Given the description of an element on the screen output the (x, y) to click on. 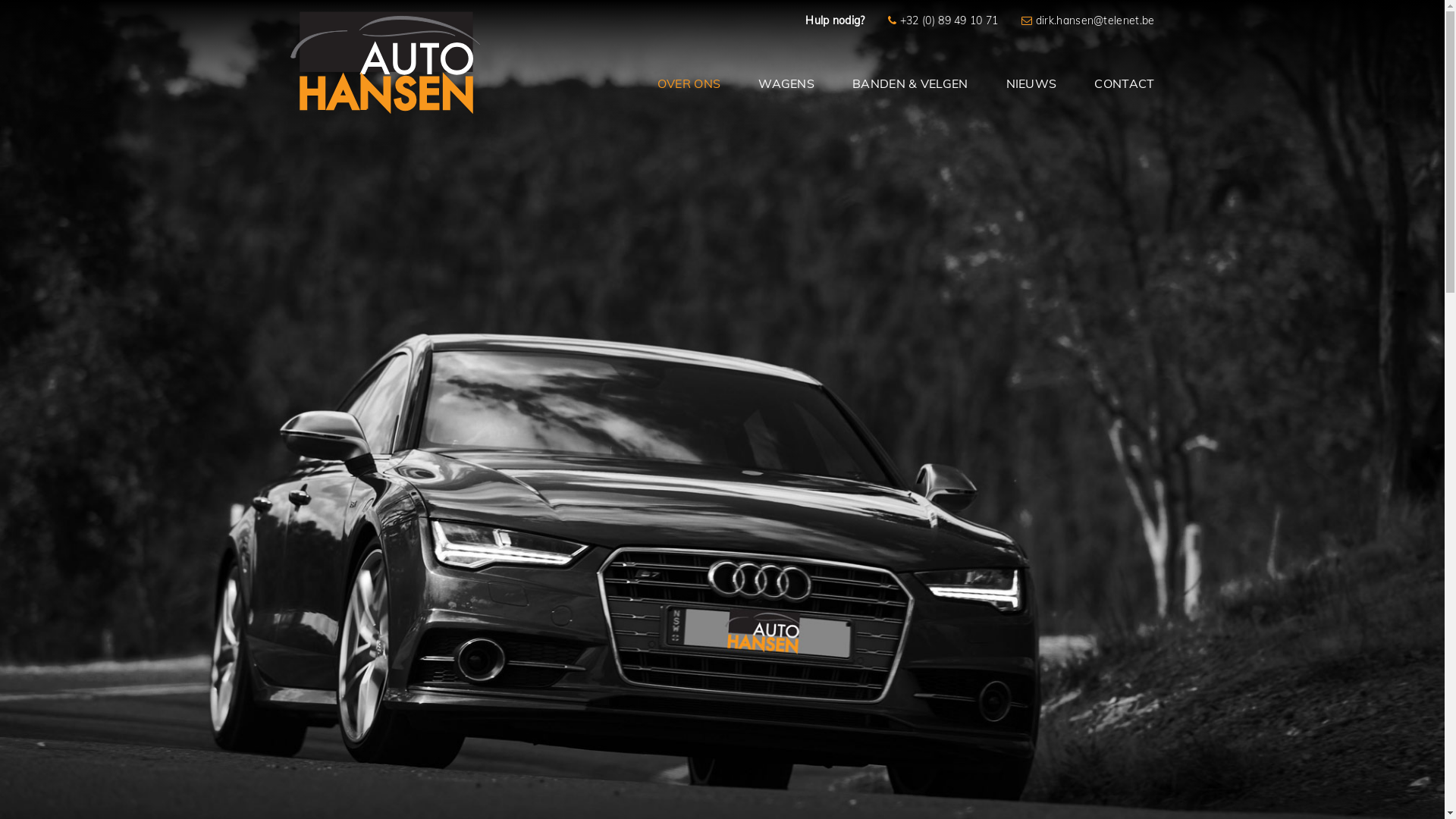
BANDEN & VELGEN Element type: text (910, 83)
WAGENS Element type: text (786, 83)
NIEUWS Element type: text (1031, 83)
CONTACT Element type: text (1114, 83)
OVER ONS Element type: text (688, 83)
Auto Hansen Element type: hover (384, 94)
